Given the description of an element on the screen output the (x, y) to click on. 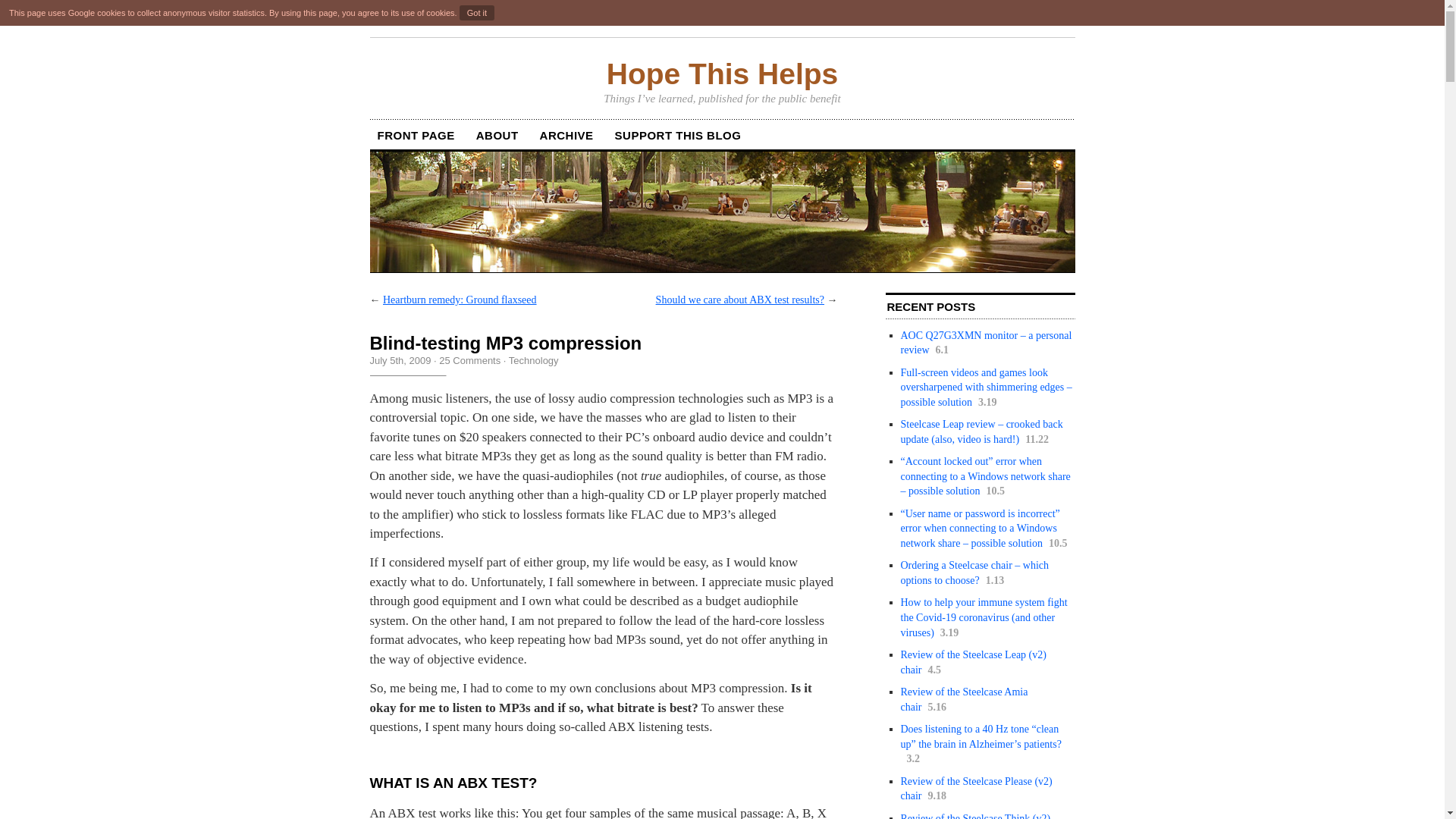
25 Comments (469, 360)
go to the front page (722, 73)
Technology (533, 360)
Should we care about ABX test results? (740, 299)
SUPPORT THIS BLOG (677, 134)
FRONT PAGE (415, 134)
Got it (477, 12)
Hope This Helps (722, 73)
Heartburn remedy: Ground flaxseed (459, 299)
ABOUT (497, 134)
